Given the description of an element on the screen output the (x, y) to click on. 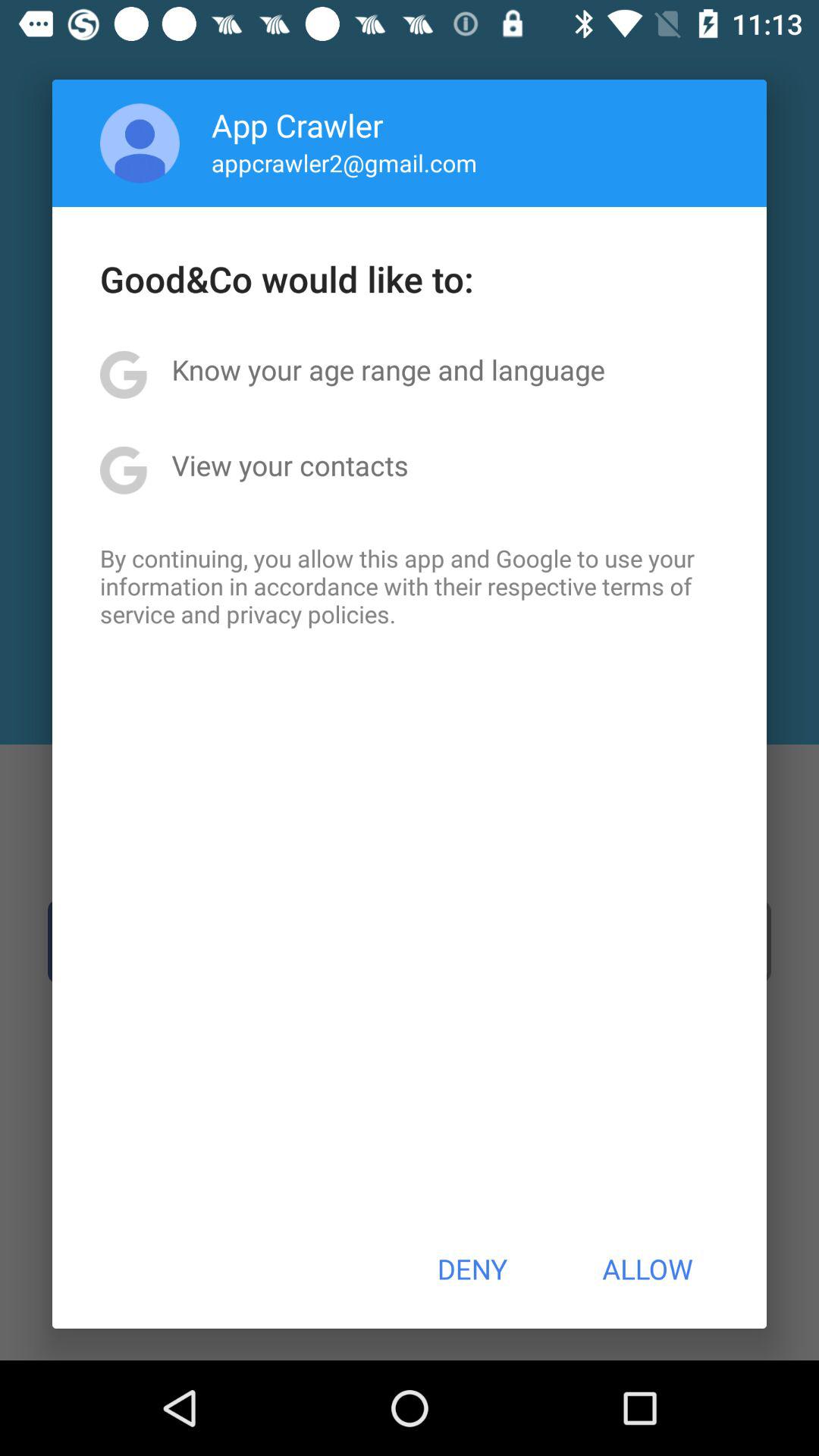
turn on app above the appcrawler2@gmail.com (297, 124)
